Given the description of an element on the screen output the (x, y) to click on. 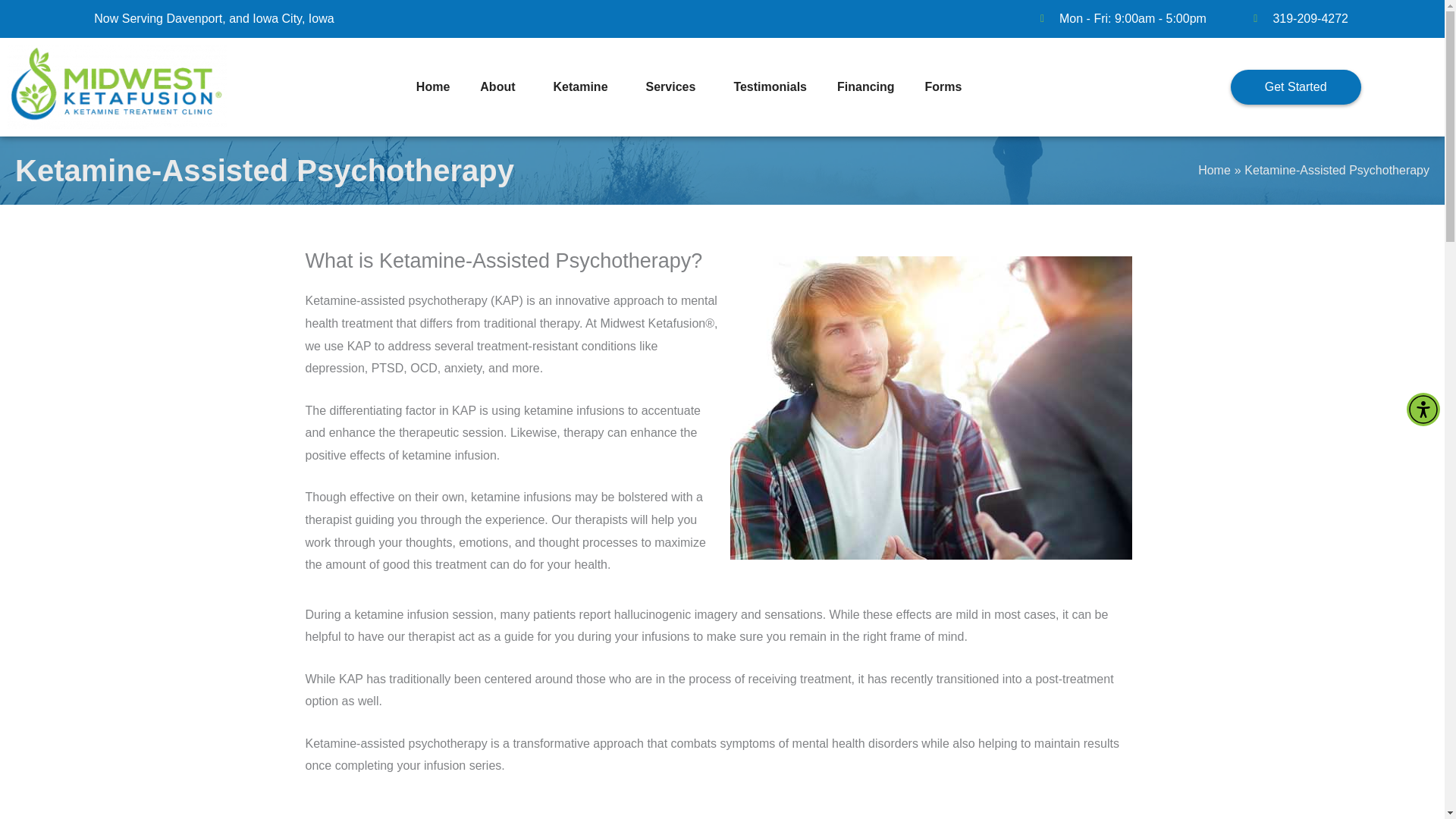
Services (674, 86)
Accessibility Menu (1422, 409)
Home (432, 86)
Forms (947, 86)
Financing (866, 86)
Testimonials (769, 86)
About (500, 86)
319-209-4272 (1296, 18)
Ketamine (584, 86)
Ketamine-Assisted Psychotherapy 1 (930, 407)
